Given the description of an element on the screen output the (x, y) to click on. 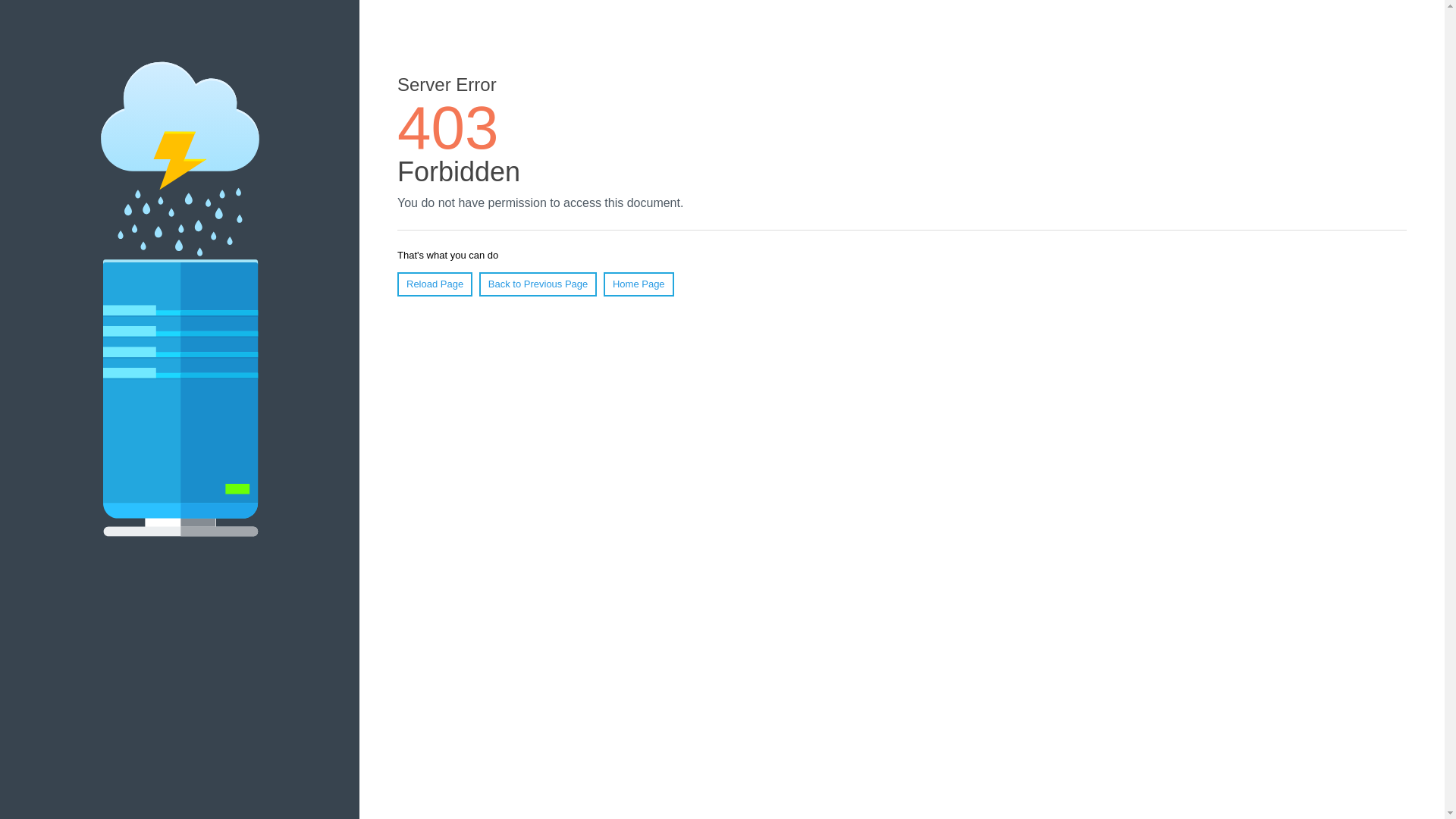
Home Page (639, 283)
Back to Previous Page (537, 283)
Reload Page (434, 283)
